Given the description of an element on the screen output the (x, y) to click on. 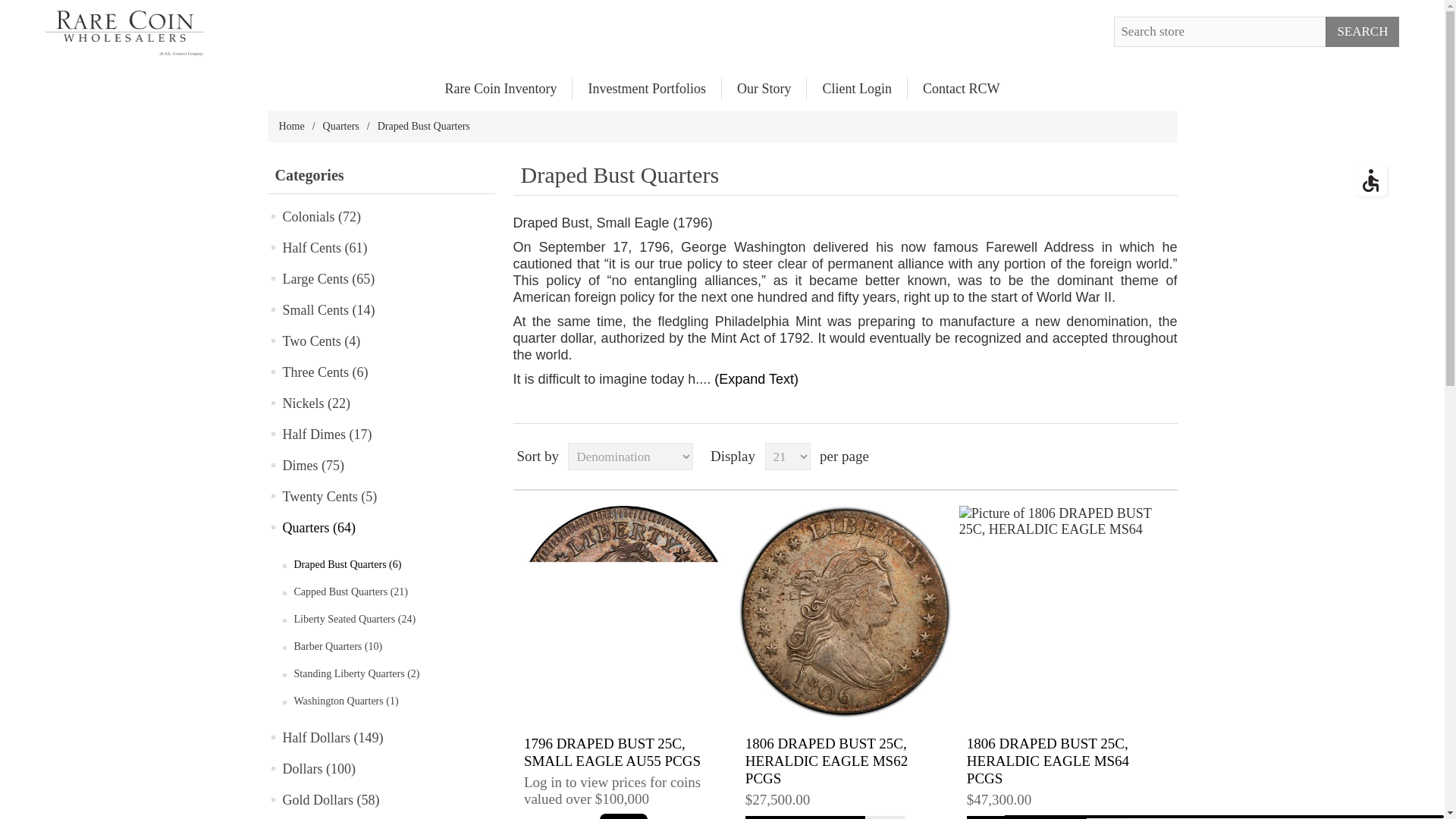
Search (1361, 31)
Picture of 1806 DRAPED BUST 25C, HERALDIC EAGLE MS64  (1066, 613)
Picture of 1796 DRAPED BUST 25C, SMALL EAGLE AU55  (623, 613)
Rare Coin Inventory (500, 87)
Add to compare list (1106, 817)
Home (291, 126)
Picture of 1806 DRAPED BUST 25C, HERALDIC EAGLE MS62  (844, 613)
Add to compare list (1106, 817)
Add to compare list (884, 817)
Details (1026, 817)
